Given the description of an element on the screen output the (x, y) to click on. 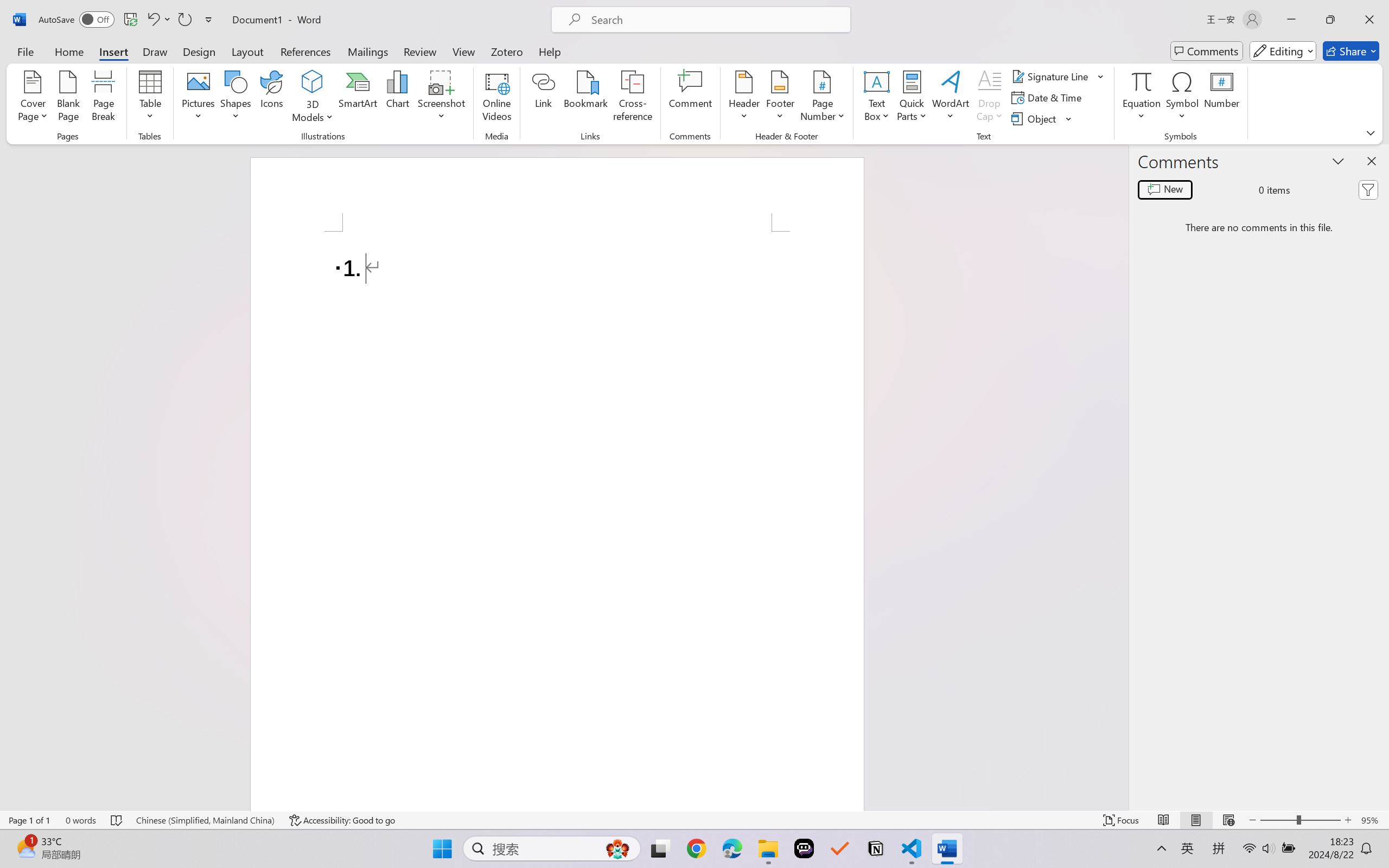
Cross-reference... (632, 97)
Undo Number Default (158, 19)
Date & Time... (1048, 97)
Chart... (396, 97)
Drop Cap (989, 97)
Object... (1035, 118)
